Given the description of an element on the screen output the (x, y) to click on. 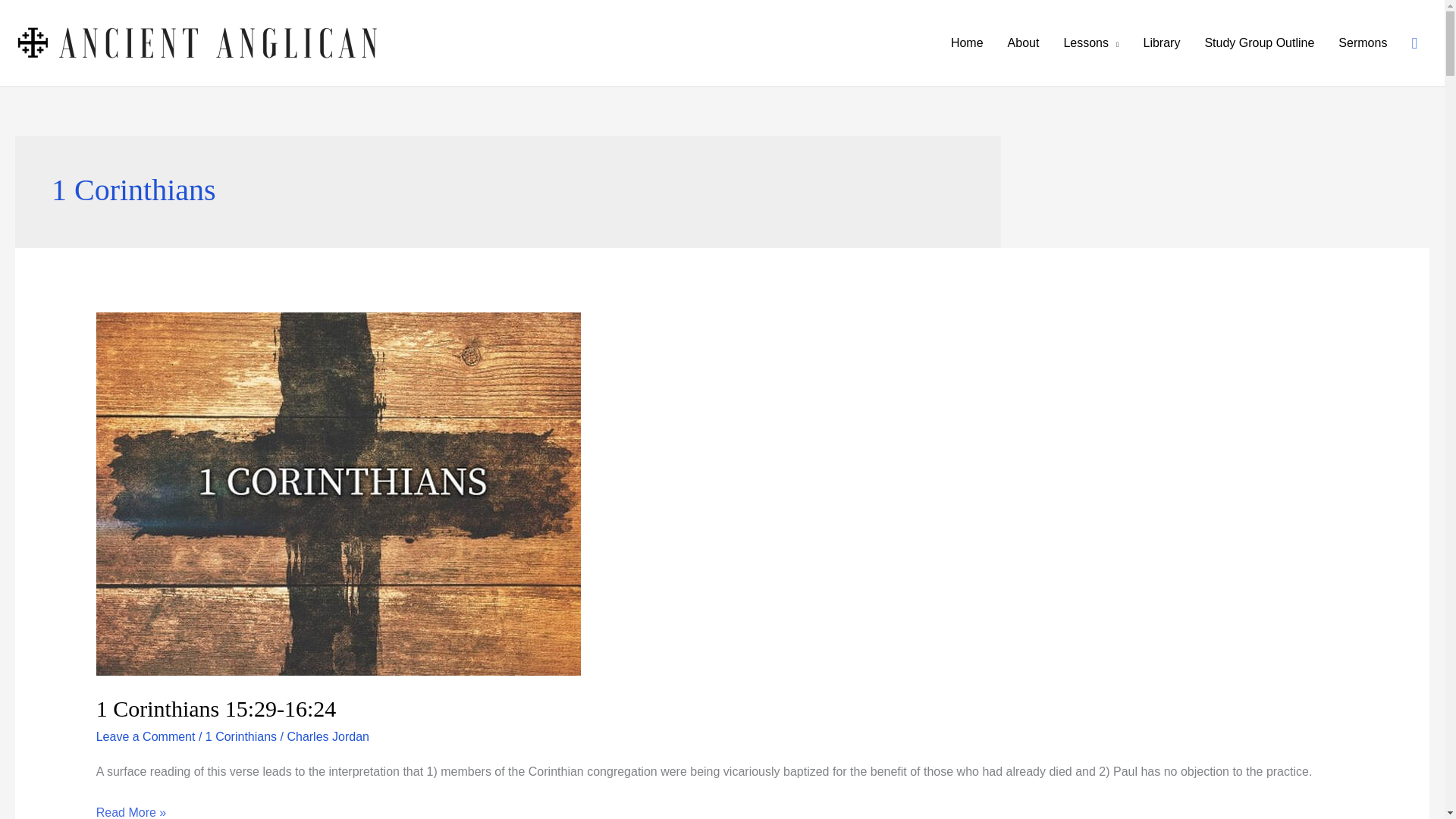
View all posts by Charles Jordan (327, 736)
About (1023, 42)
Lessons (1091, 42)
Home (967, 42)
